Given the description of an element on the screen output the (x, y) to click on. 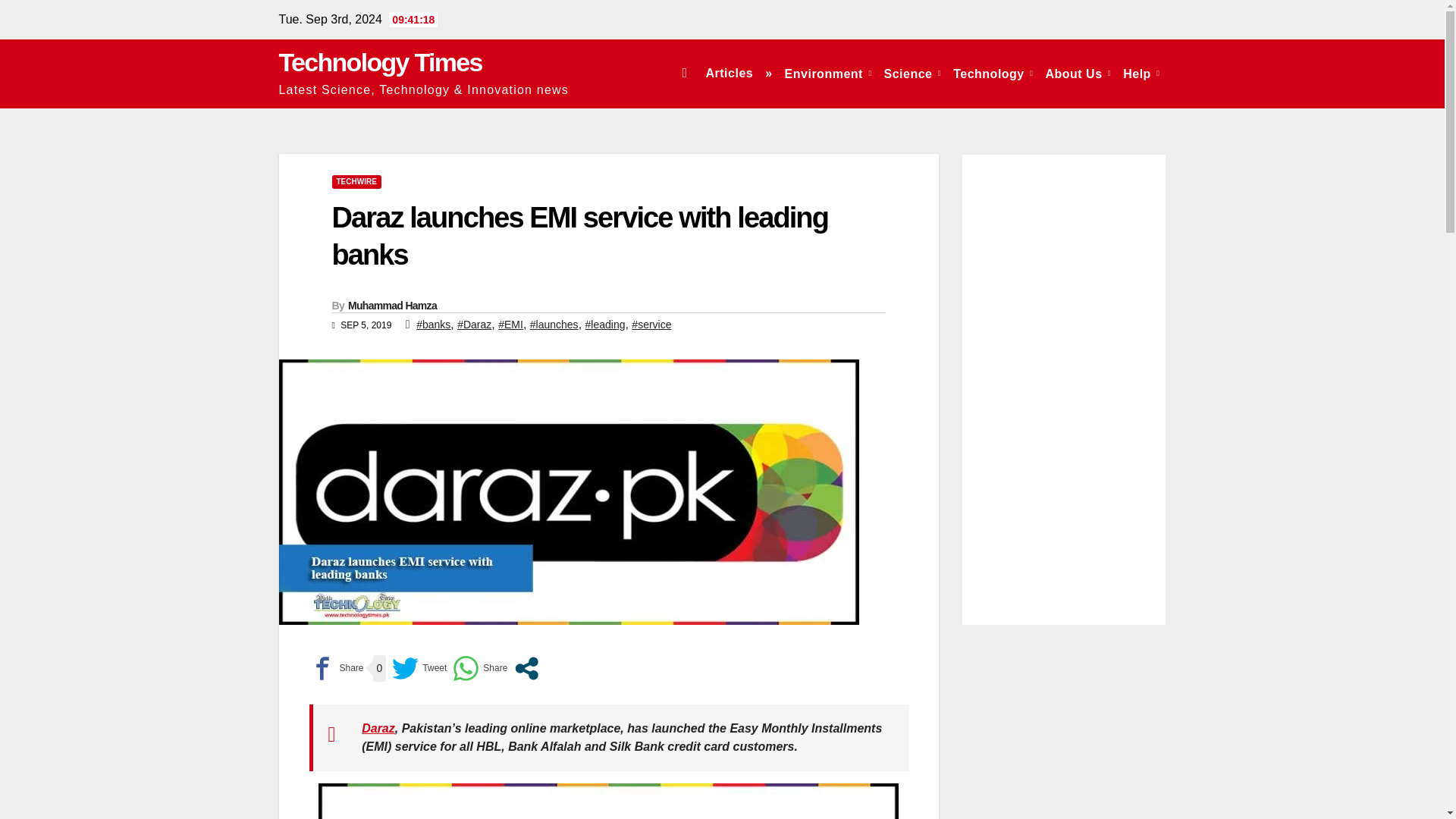
About Us (1077, 73)
Science (912, 73)
Environment (827, 73)
Science (912, 73)
Environment (827, 73)
Technology (993, 73)
Technology Times (380, 61)
Technology (993, 73)
